Given the description of an element on the screen output the (x, y) to click on. 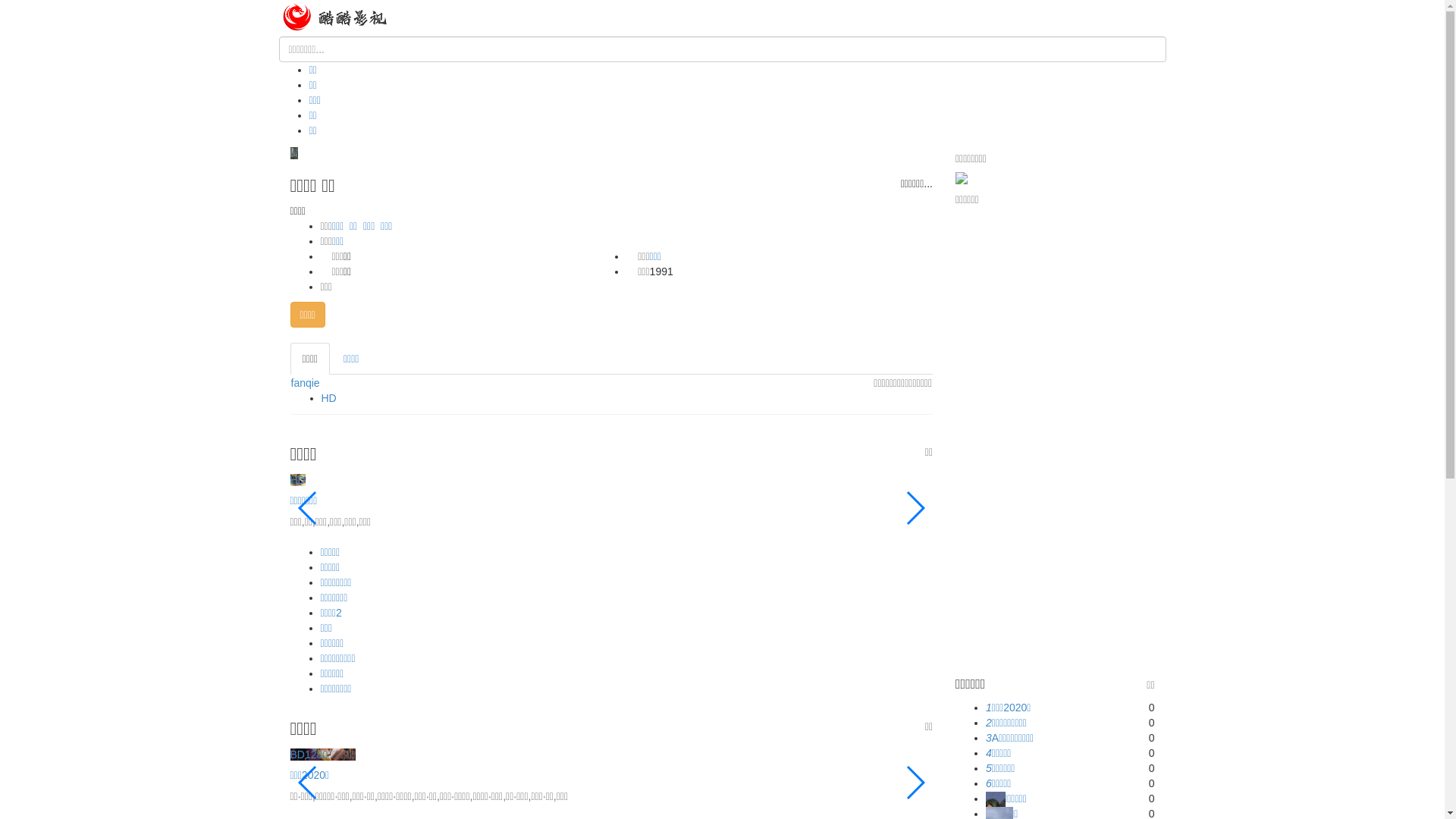
HD Element type: text (328, 398)
Advertisement Element type: hover (1054, 441)
HD Element type: text (296, 479)
